Given the description of an element on the screen output the (x, y) to click on. 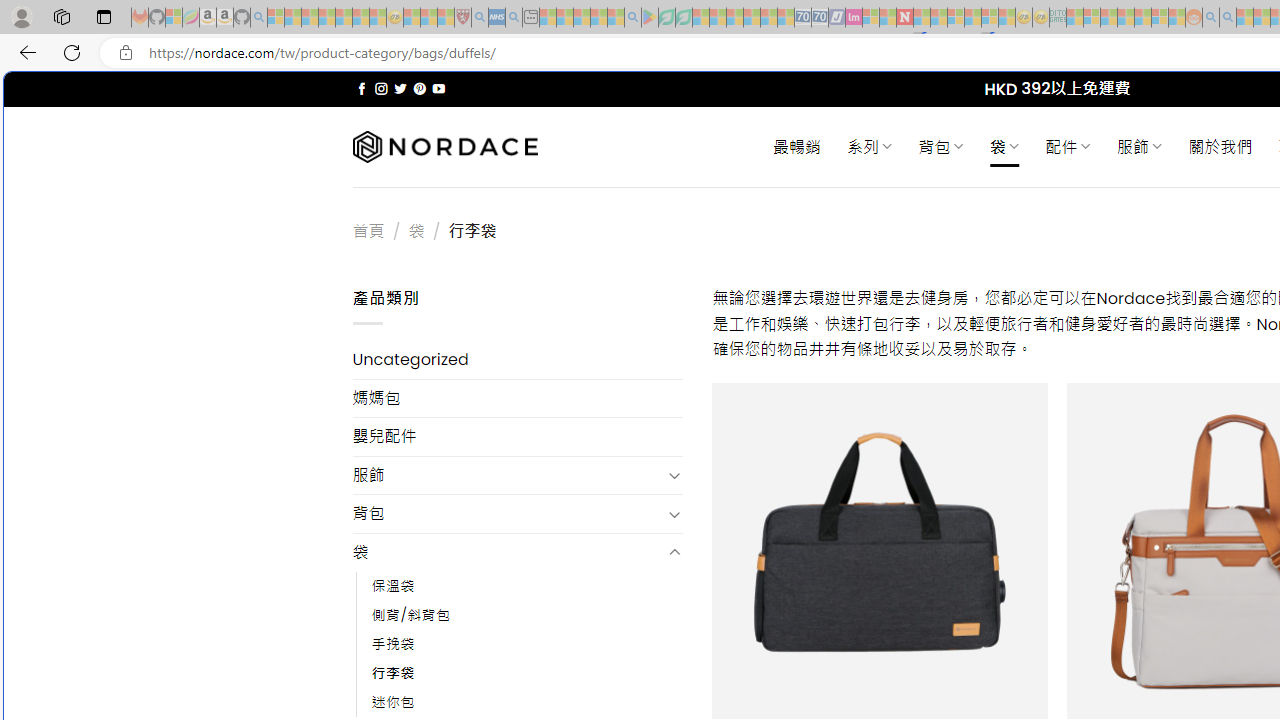
Follow on Twitter (400, 88)
Pets - MSN - Sleeping (598, 17)
Follow on YouTube (438, 88)
